Given the description of an element on the screen output the (x, y) to click on. 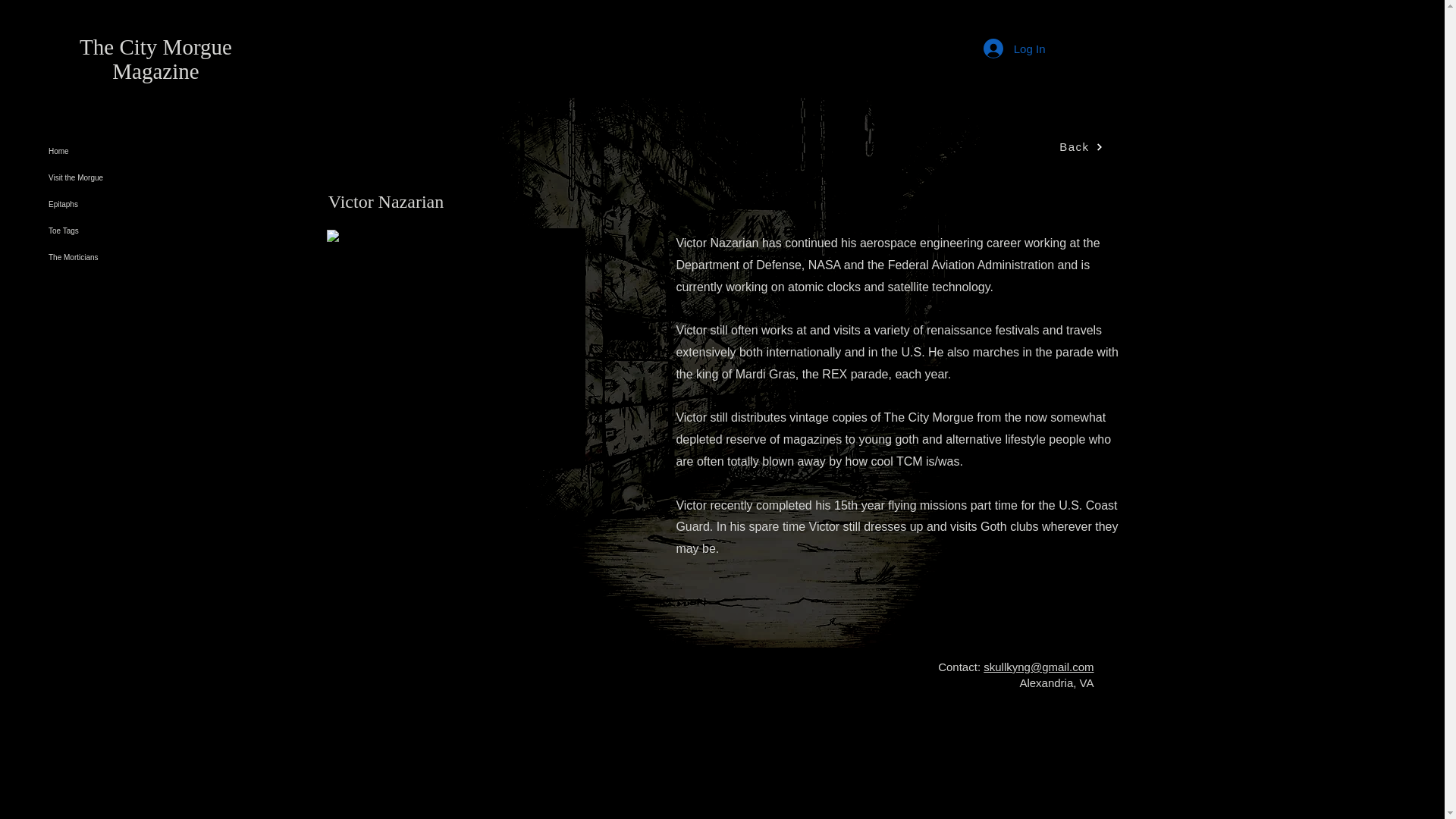
Visit the Morgue (167, 177)
Log In (1014, 48)
Home (167, 151)
Toe Tags (167, 230)
Back (1081, 146)
The City Morgue (155, 46)
The Morticians (167, 257)
Epitaphs (167, 203)
